Given the description of an element on the screen output the (x, y) to click on. 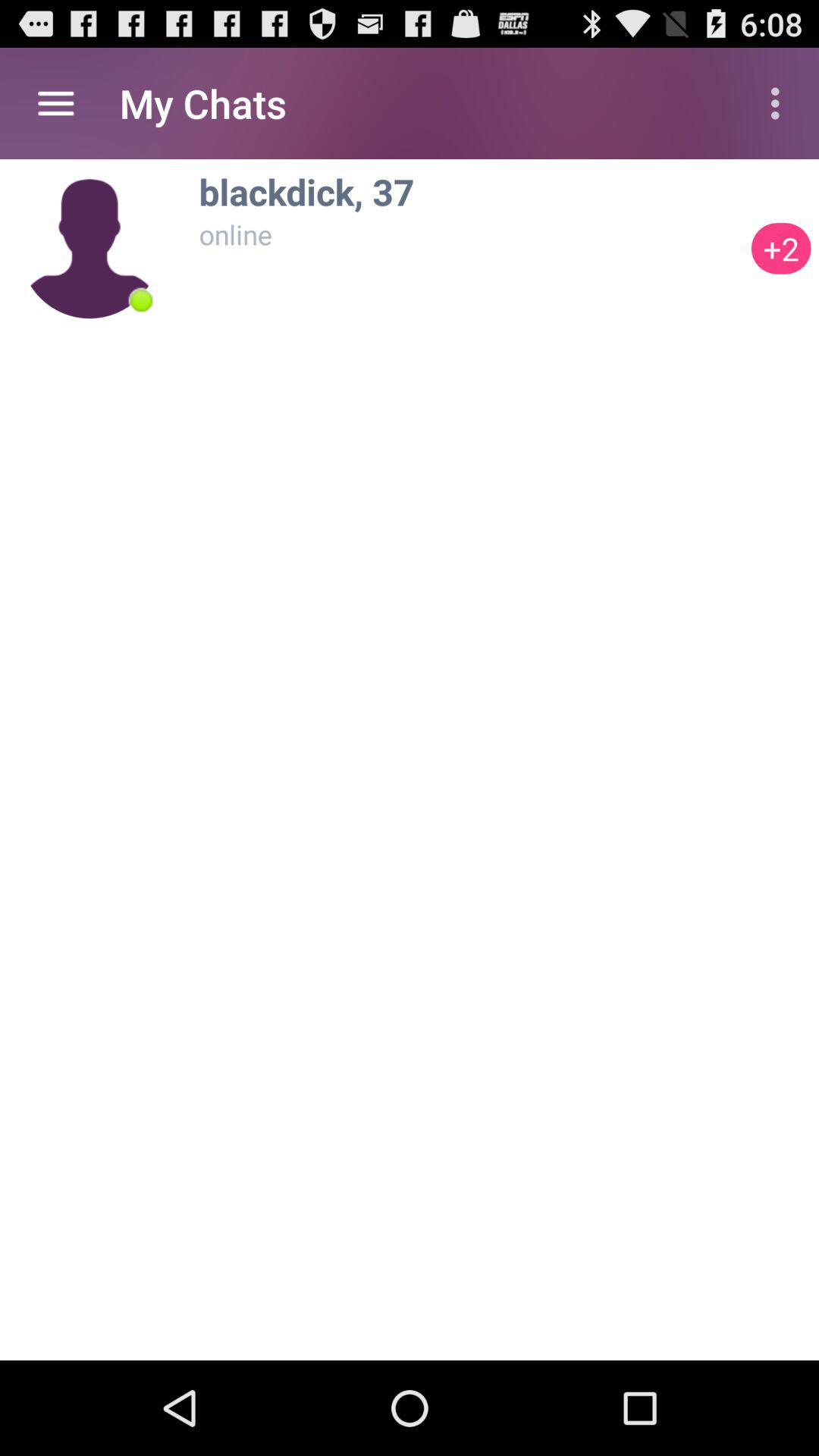
scroll to the +2 (781, 248)
